Given the description of an element on the screen output the (x, y) to click on. 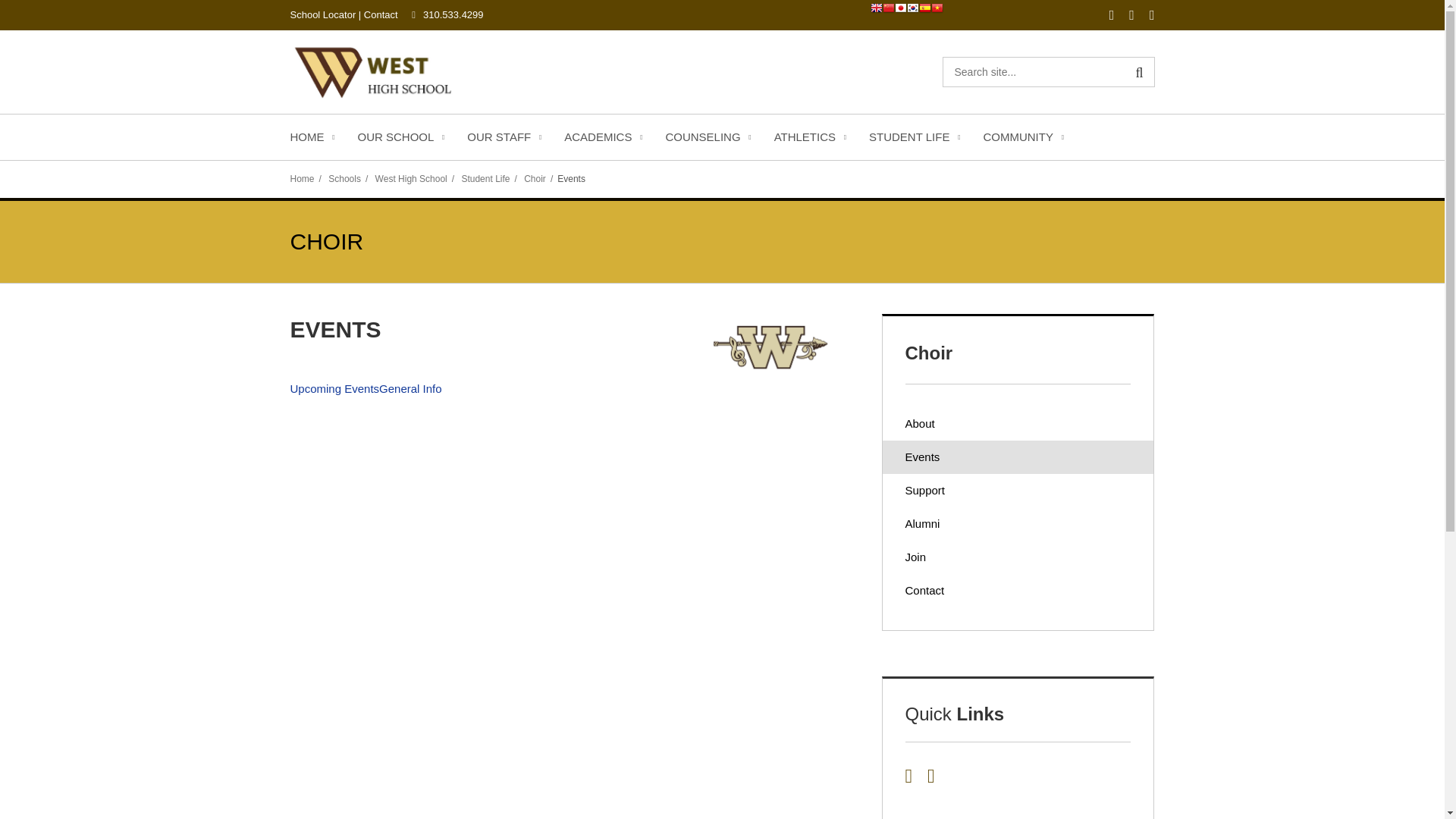
OUR SCHOOL (400, 136)
Contact (380, 14)
HOME (312, 136)
OUR STAFF (504, 136)
School Locator (322, 14)
